Given the description of an element on the screen output the (x, y) to click on. 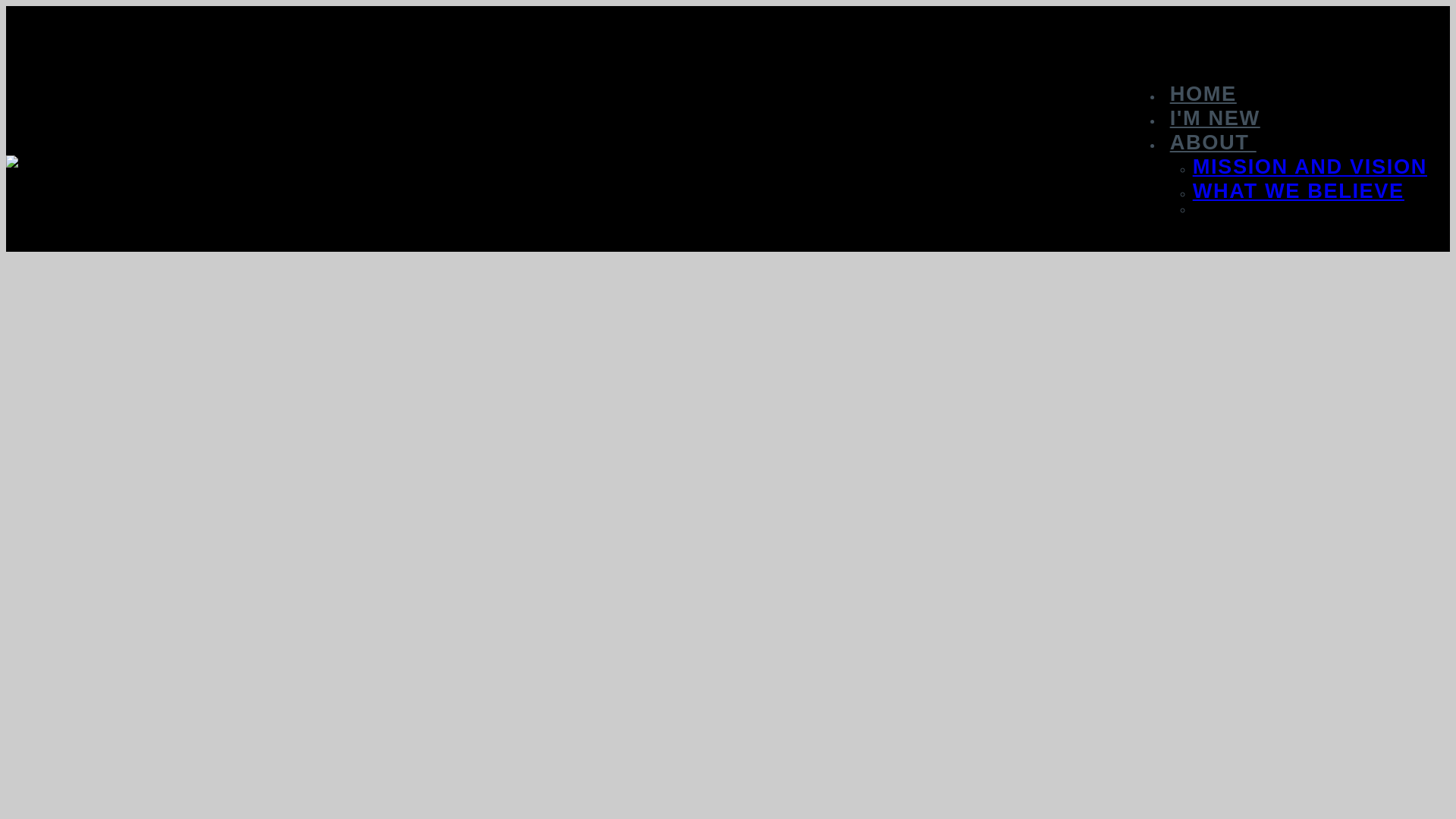
HOME Element type: text (1203, 93)
WHAT WE BELIEVE Element type: text (1298, 190)
I'M NEW Element type: text (1214, 117)
ABOUT  Element type: text (1213, 141)
MISSION AND VISION Element type: text (1309, 166)
